Given the description of an element on the screen output the (x, y) to click on. 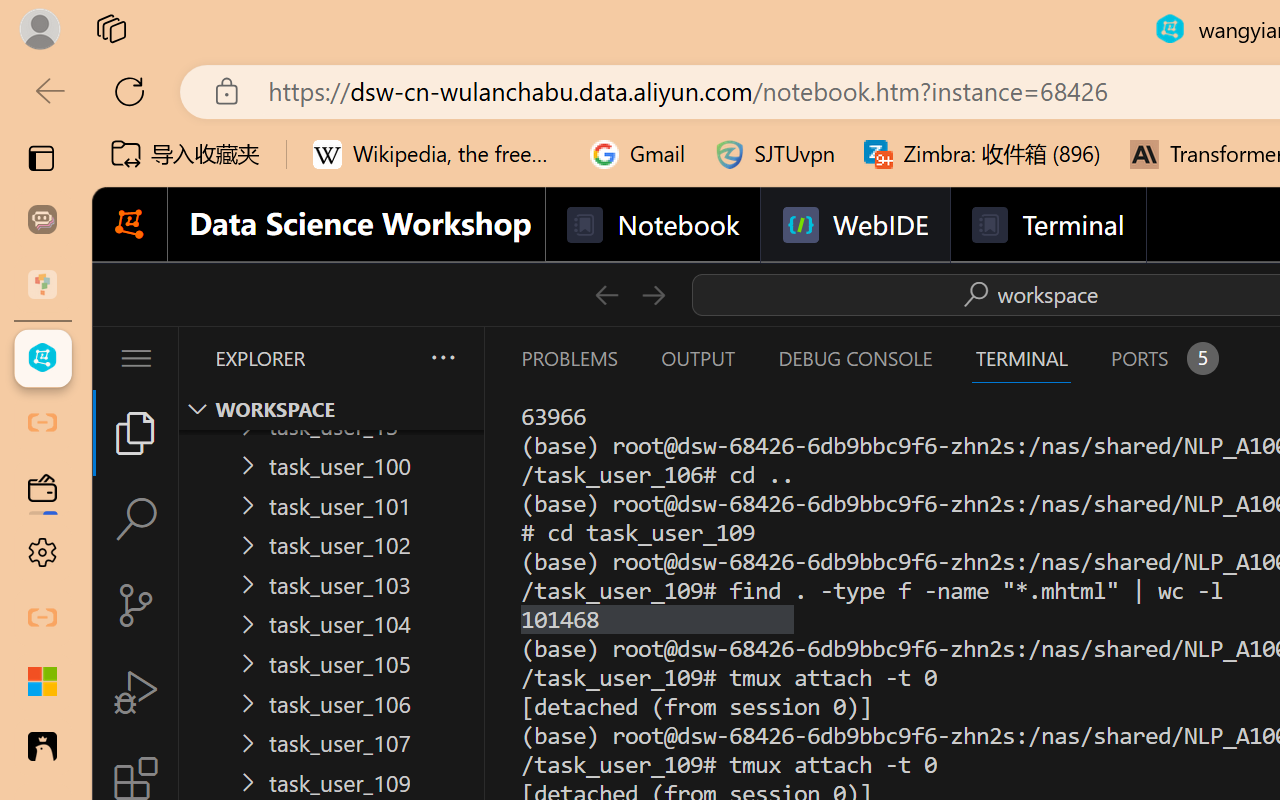
Microsoft security help and learning (42, 681)
Output (Ctrl+Shift+U) (696, 358)
Terminal (1046, 225)
Debug Console (Ctrl+Shift+Y) (854, 358)
Source Control (Ctrl+Shift+G) (135, 604)
WebIDE (854, 225)
Notebook (652, 225)
Gmail (637, 154)
Class: menubar compact overflow-menu-only (135, 358)
Application Menu (135, 358)
